Given the description of an element on the screen output the (x, y) to click on. 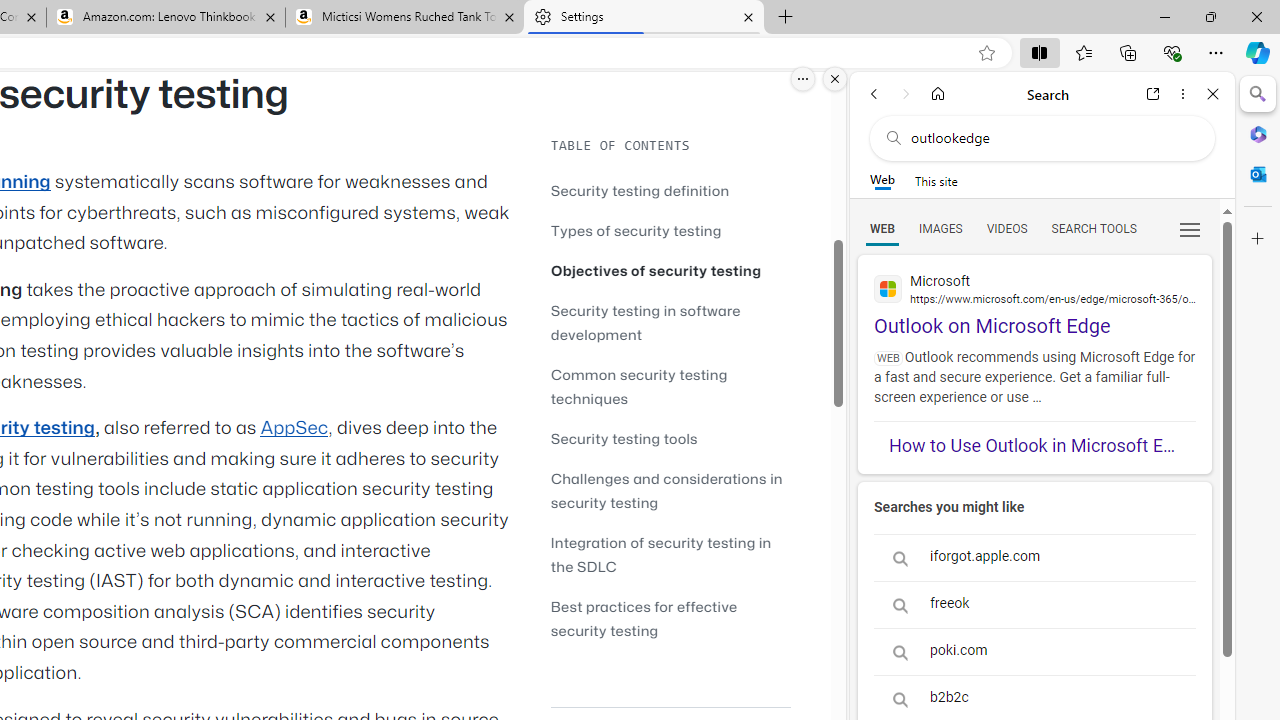
Outlook on Microsoft Edge (1034, 296)
freeok (1034, 604)
Close split screen. (835, 79)
More options. (803, 79)
iforgot.apple.com (1034, 557)
